Given the description of an element on the screen output the (x, y) to click on. 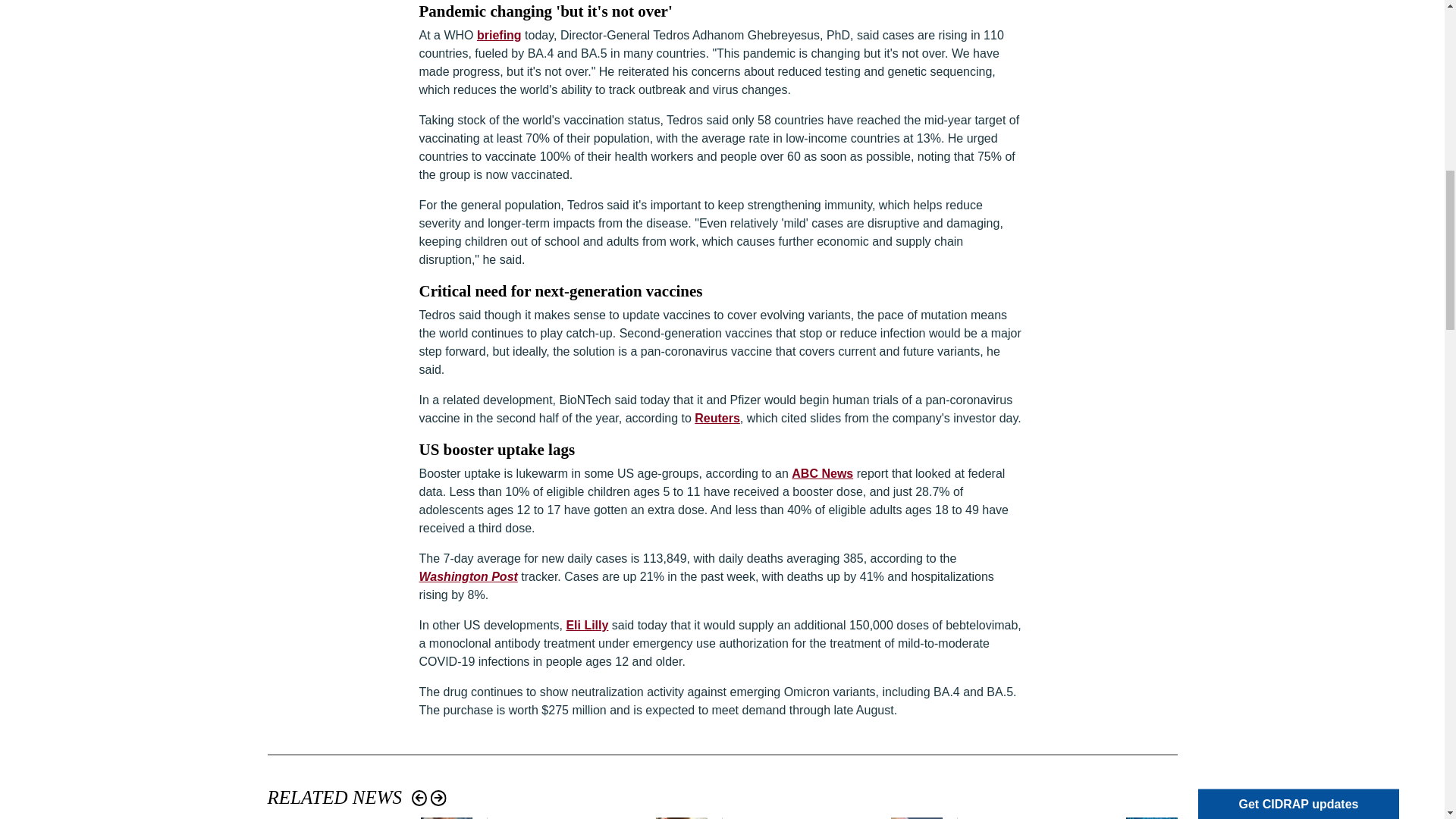
16384 (1214, 130)
on (1214, 40)
32768 (1214, 112)
Subscribe (1263, 195)
1 (1214, 58)
256 (1214, 76)
1024 (1214, 94)
